Given the description of an element on the screen output the (x, y) to click on. 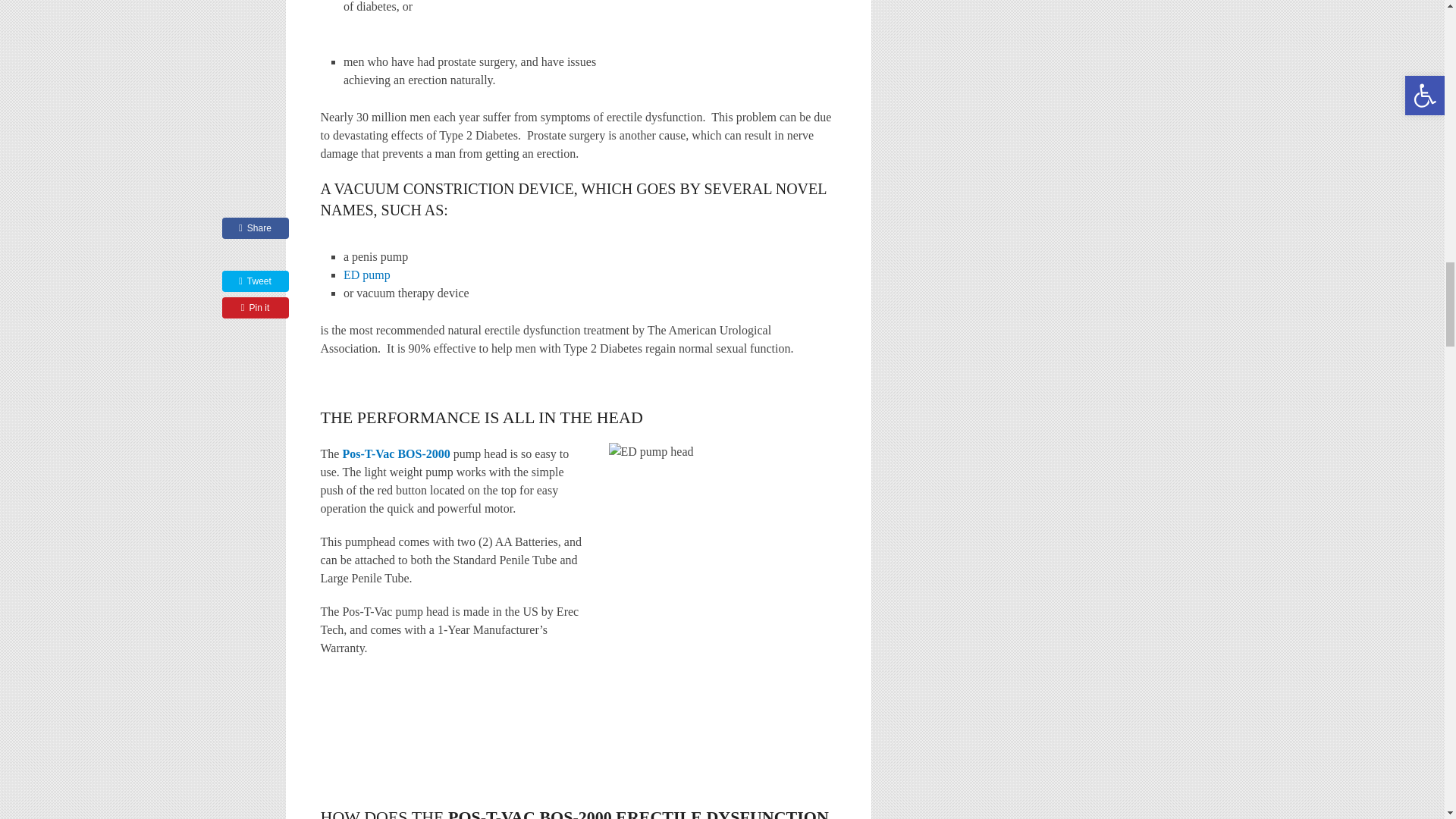
Pos-T-Vac BOS-2000 (395, 453)
ED pump (366, 274)
how ED pump works (721, 556)
pos t vac penis pump (395, 453)
